Given the description of an element on the screen output the (x, y) to click on. 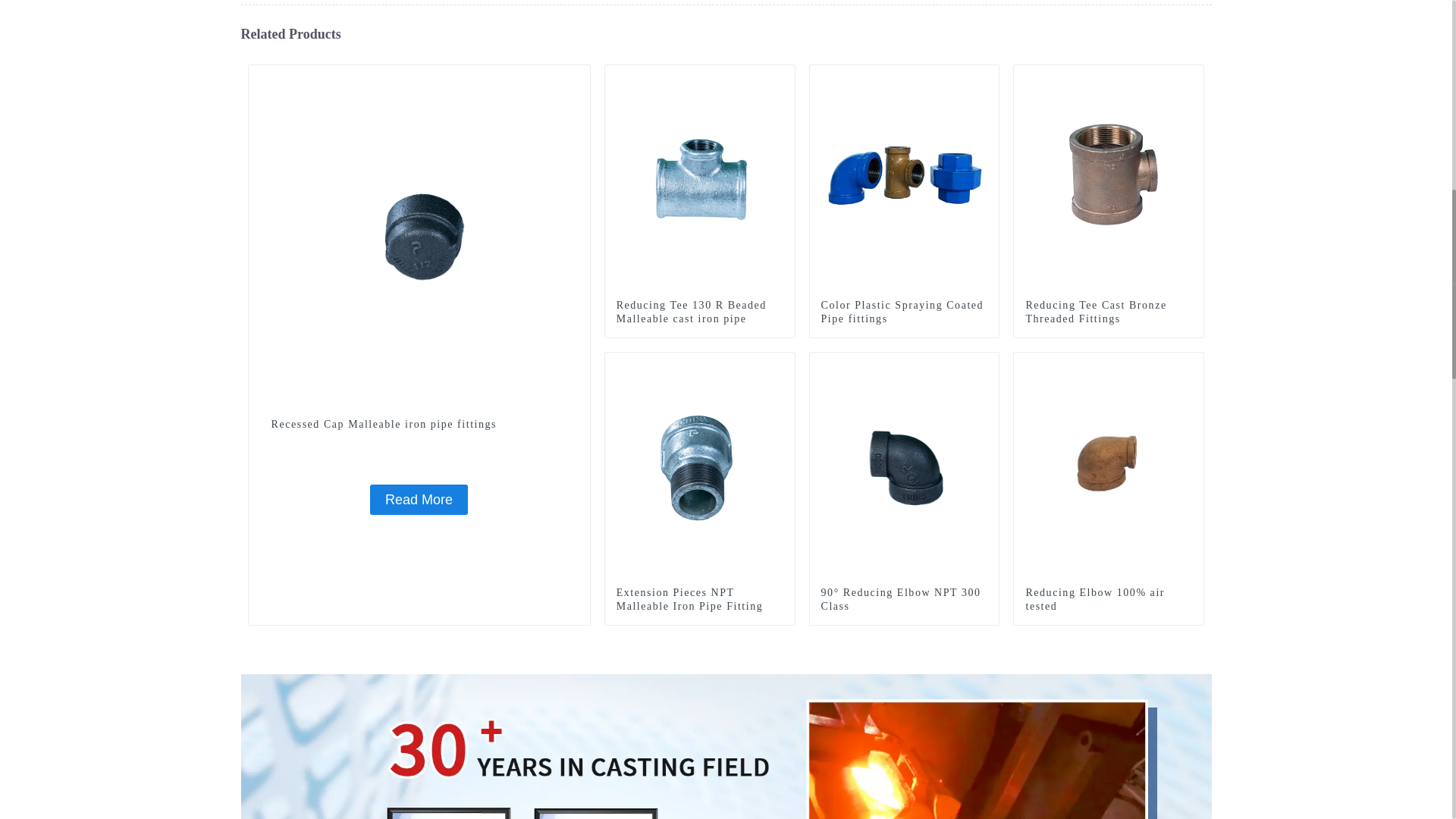
Recessed Cap Malleable iron pipe fittings (418, 424)
Reducing Tee Cast Bronze Threaded Fittings (1108, 178)
Recessed Cap Malleable iron pipe fittings   (418, 234)
90-1 (1192, 76)
Extension Pieces  NPT Malleable Iron Pipe Fitting  (699, 466)
Recessed Cap Malleable iron pipe fittings   (418, 424)
Color Plastic Spraying Coated  Pipe fittings (903, 178)
Color Plastic Spraying Coated  Pipe fittings (904, 311)
Recessed Cap Malleable iron pipe fittings   (418, 499)
Reducing Tee Cast Bronze Threaded Fittings (1108, 311)
